Given the description of an element on the screen output the (x, y) to click on. 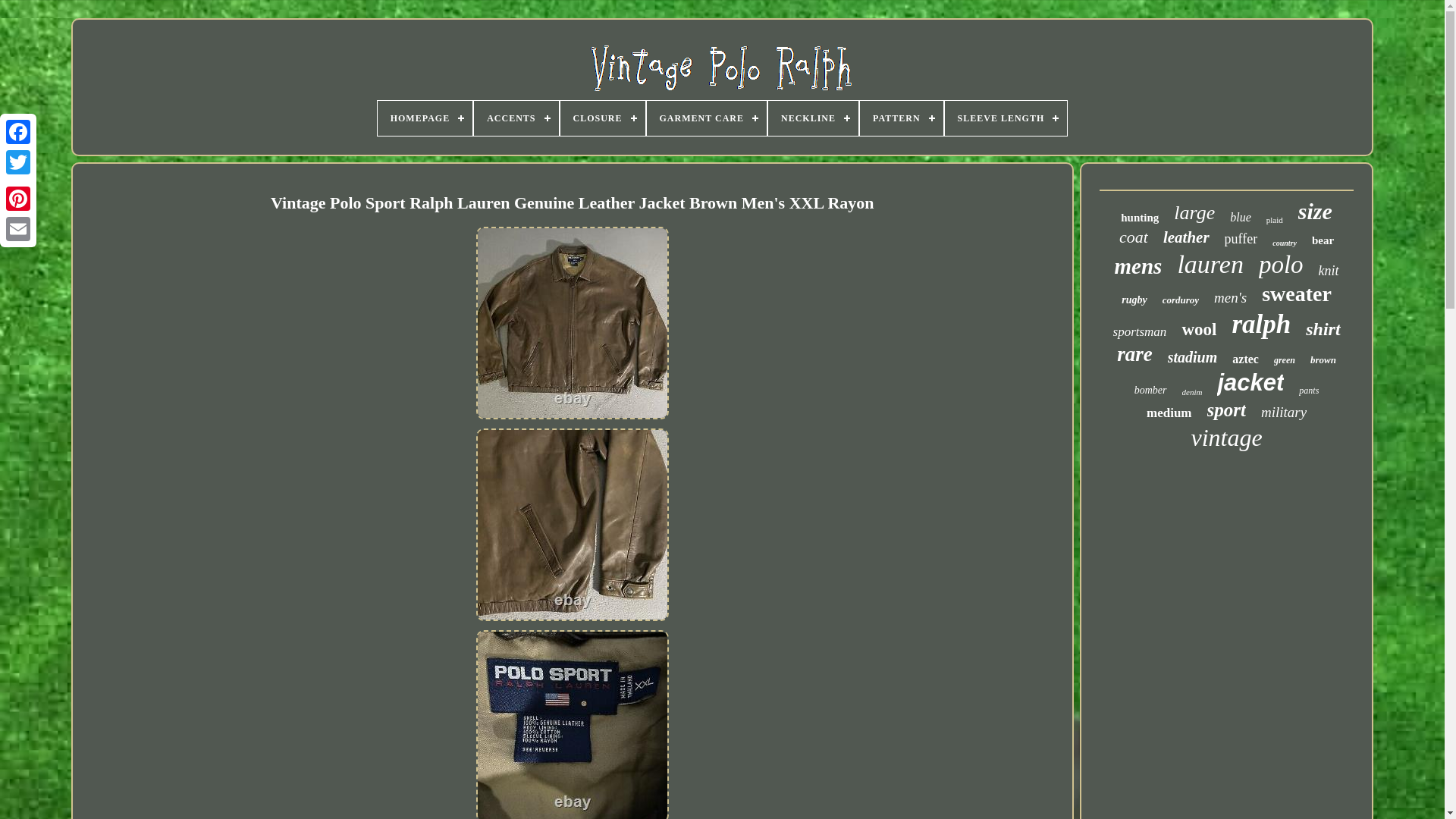
CLOSURE (602, 117)
HOMEPAGE (424, 117)
ACCENTS (515, 117)
